Given the description of an element on the screen output the (x, y) to click on. 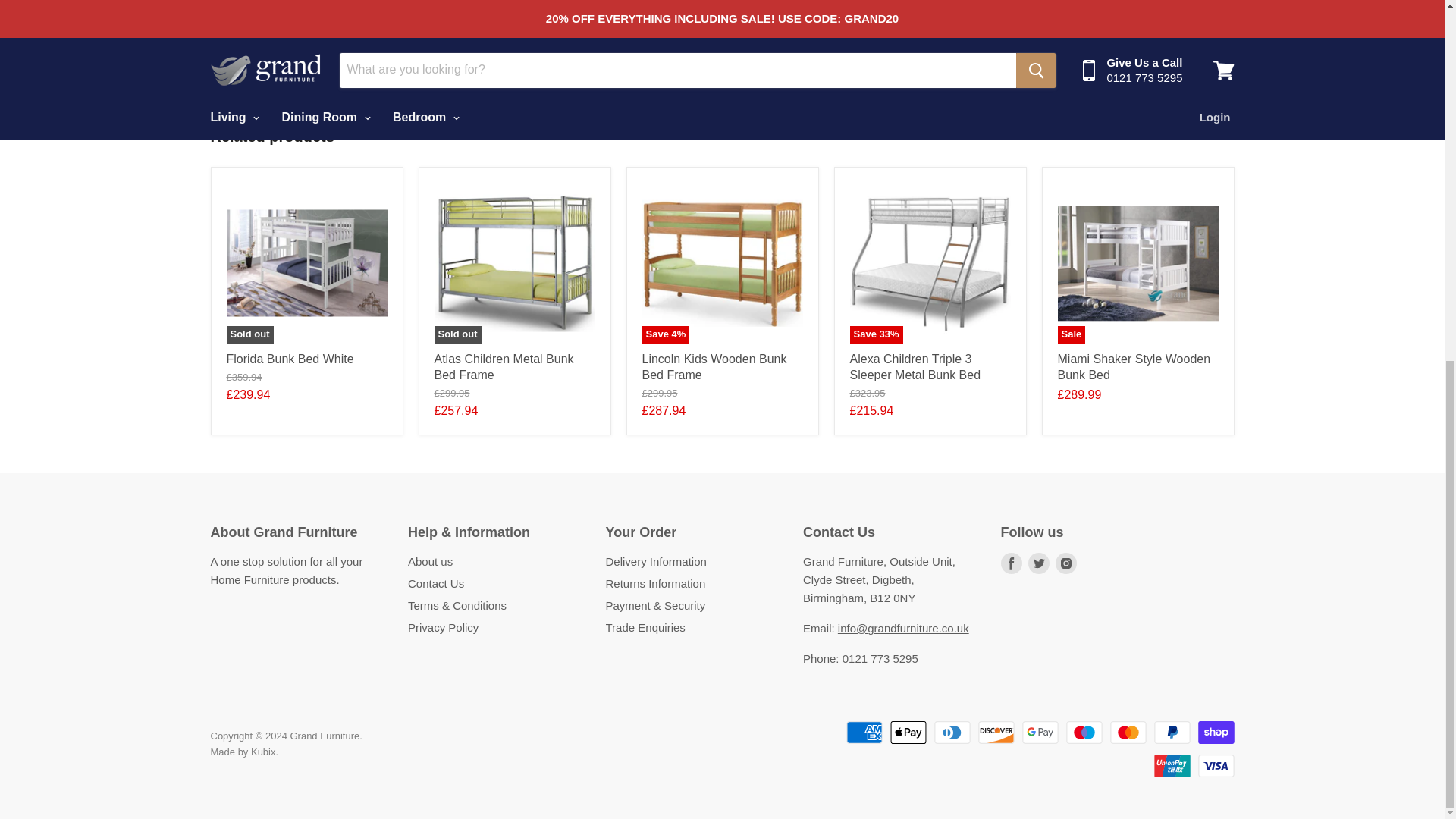
Twitter (1038, 563)
American Express (863, 732)
Discover (996, 732)
Diners Club (952, 732)
Facebook (1011, 563)
Instagram (1066, 563)
Apple Pay (907, 732)
